Given the description of an element on the screen output the (x, y) to click on. 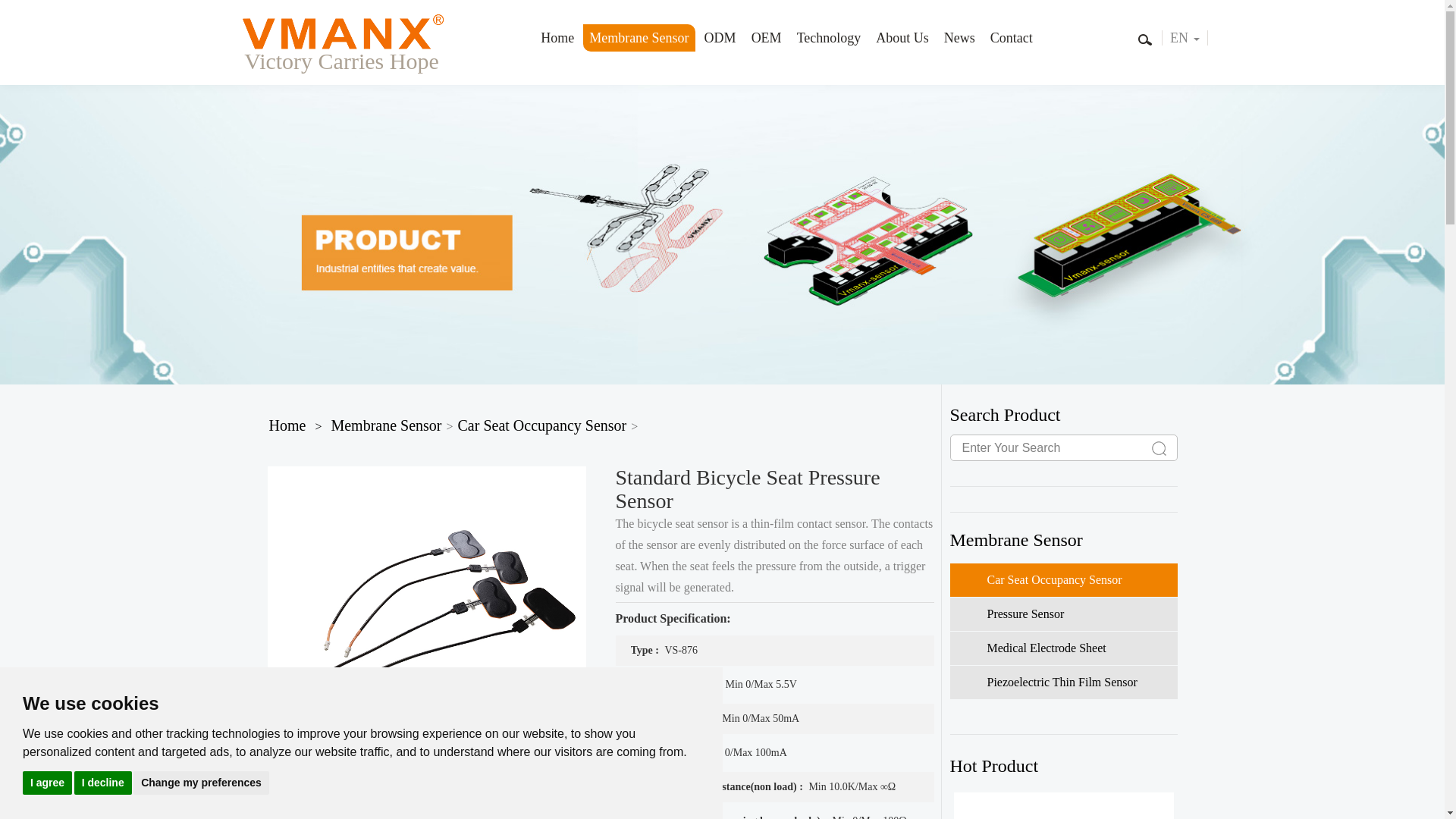
Membrane Sensor (638, 37)
Cookies (32, 757)
About Us (901, 37)
ODM (720, 37)
ODM (720, 37)
News (959, 37)
Technology (828, 37)
Contact (1011, 37)
Home (286, 424)
I agree (47, 781)
OEM (766, 37)
Membrane Sensor (385, 424)
OEM (766, 37)
Home (556, 37)
Home (556, 37)
